Given the description of an element on the screen output the (x, y) to click on. 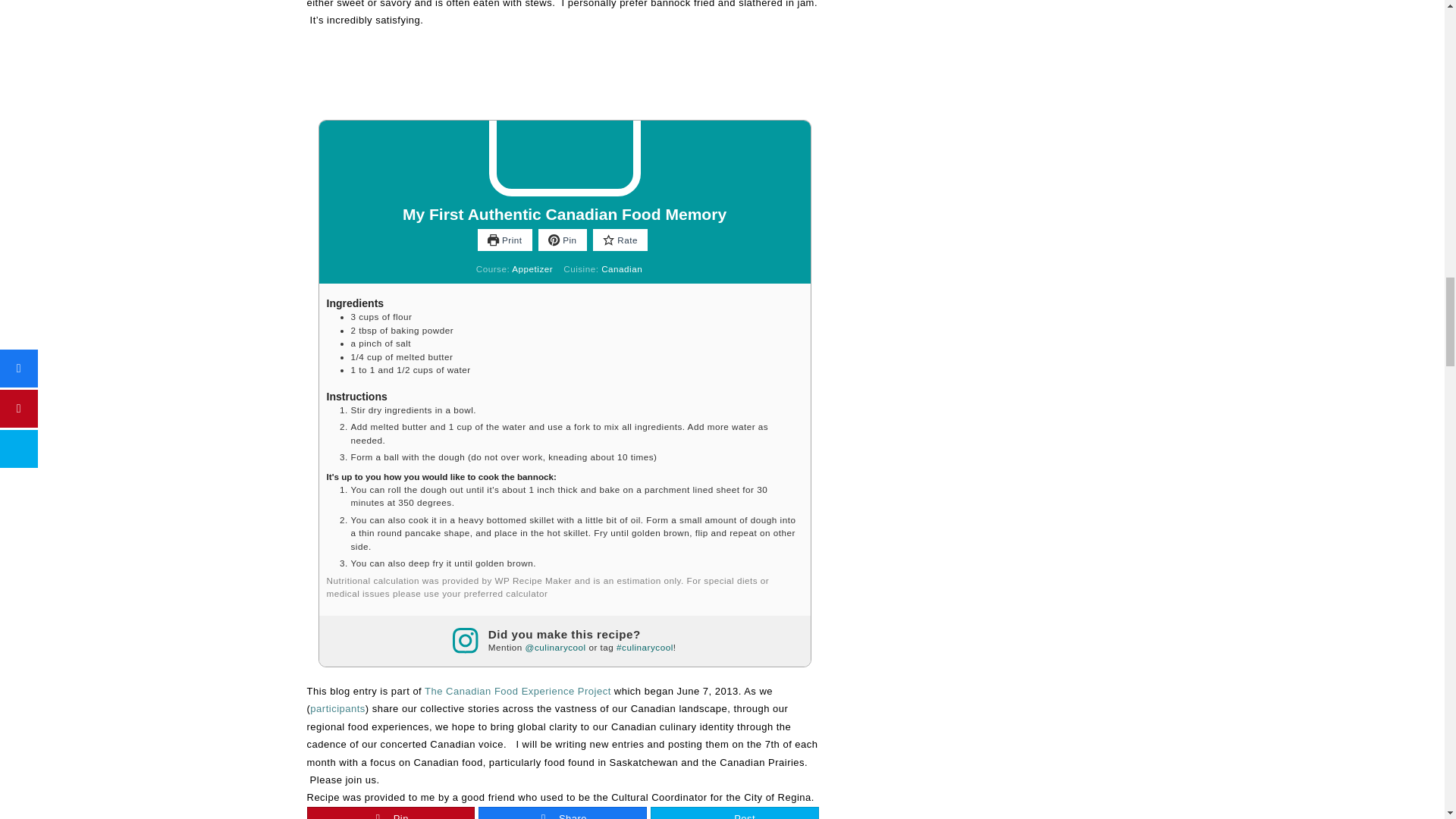
participants (337, 708)
Share (562, 813)
Pin (562, 240)
Rate (619, 240)
Post (734, 813)
The Canadian Food Experience Project (518, 690)
Print (504, 240)
Pin (390, 813)
